Given the description of an element on the screen output the (x, y) to click on. 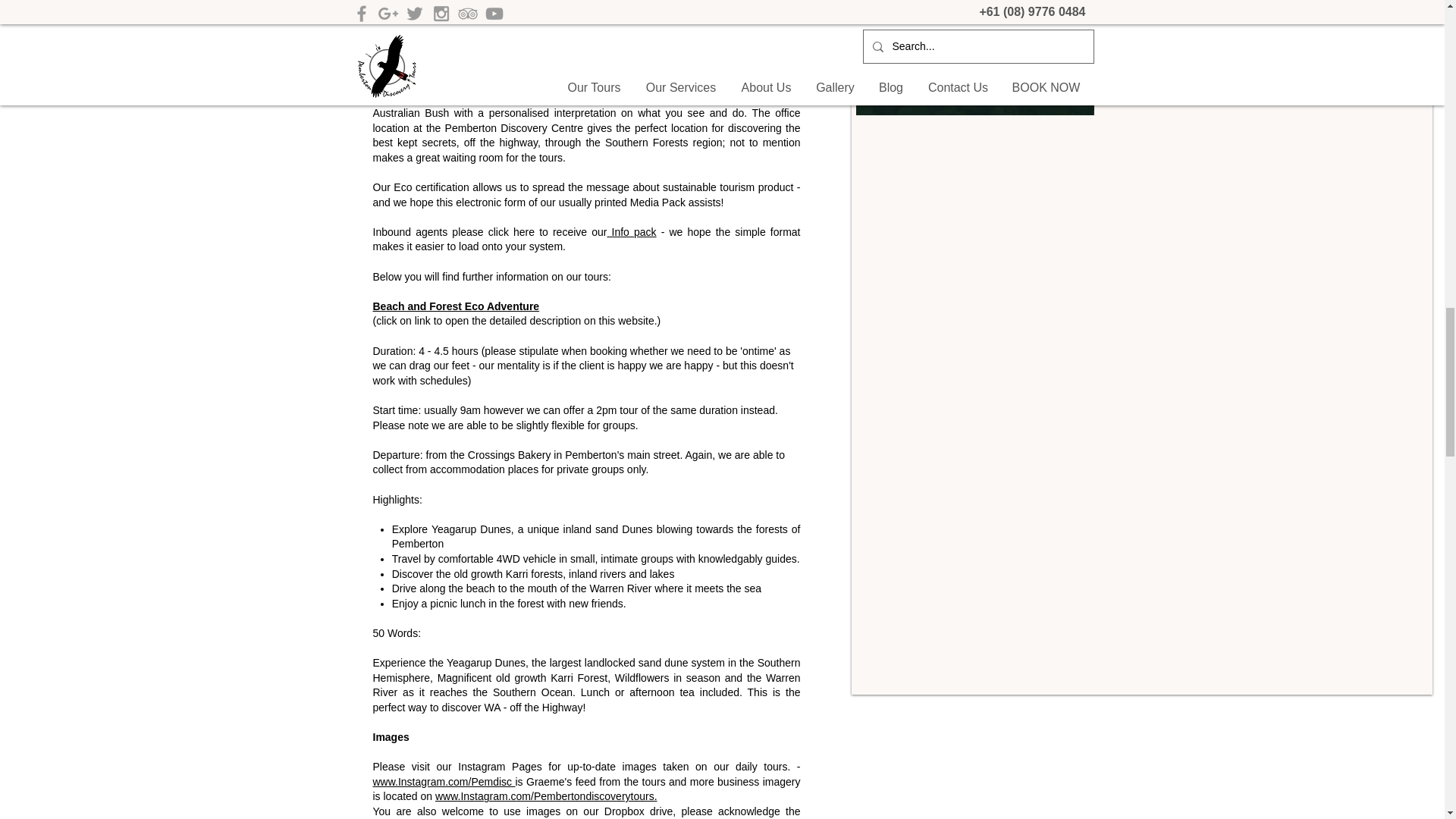
Beach and Forest Eco Adventure (456, 306)
Info pack (631, 232)
